Given the description of an element on the screen output the (x, y) to click on. 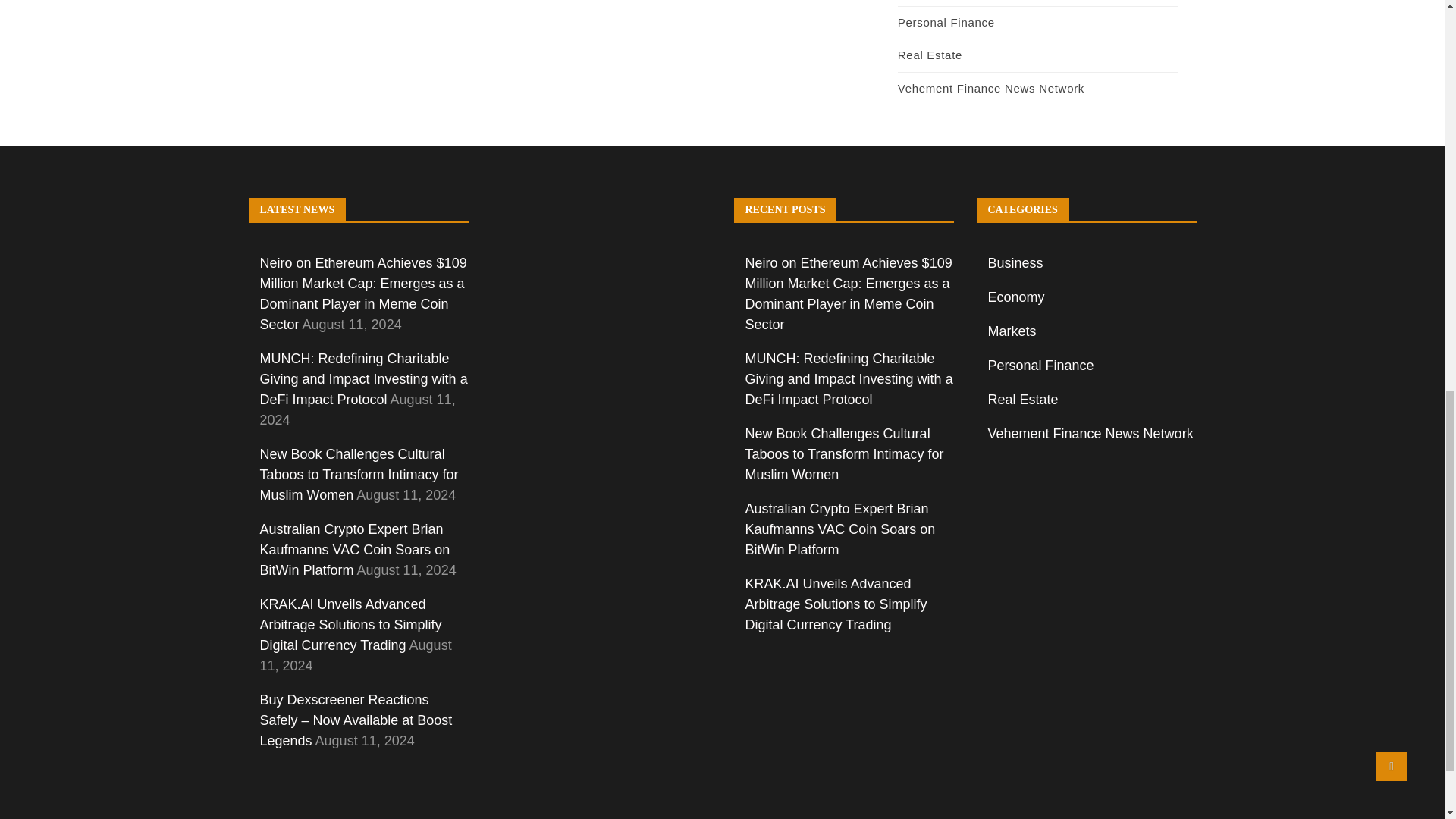
Personal Finance (946, 21)
Real Estate (930, 54)
Vehement Finance News Network (991, 88)
